Given the description of an element on the screen output the (x, y) to click on. 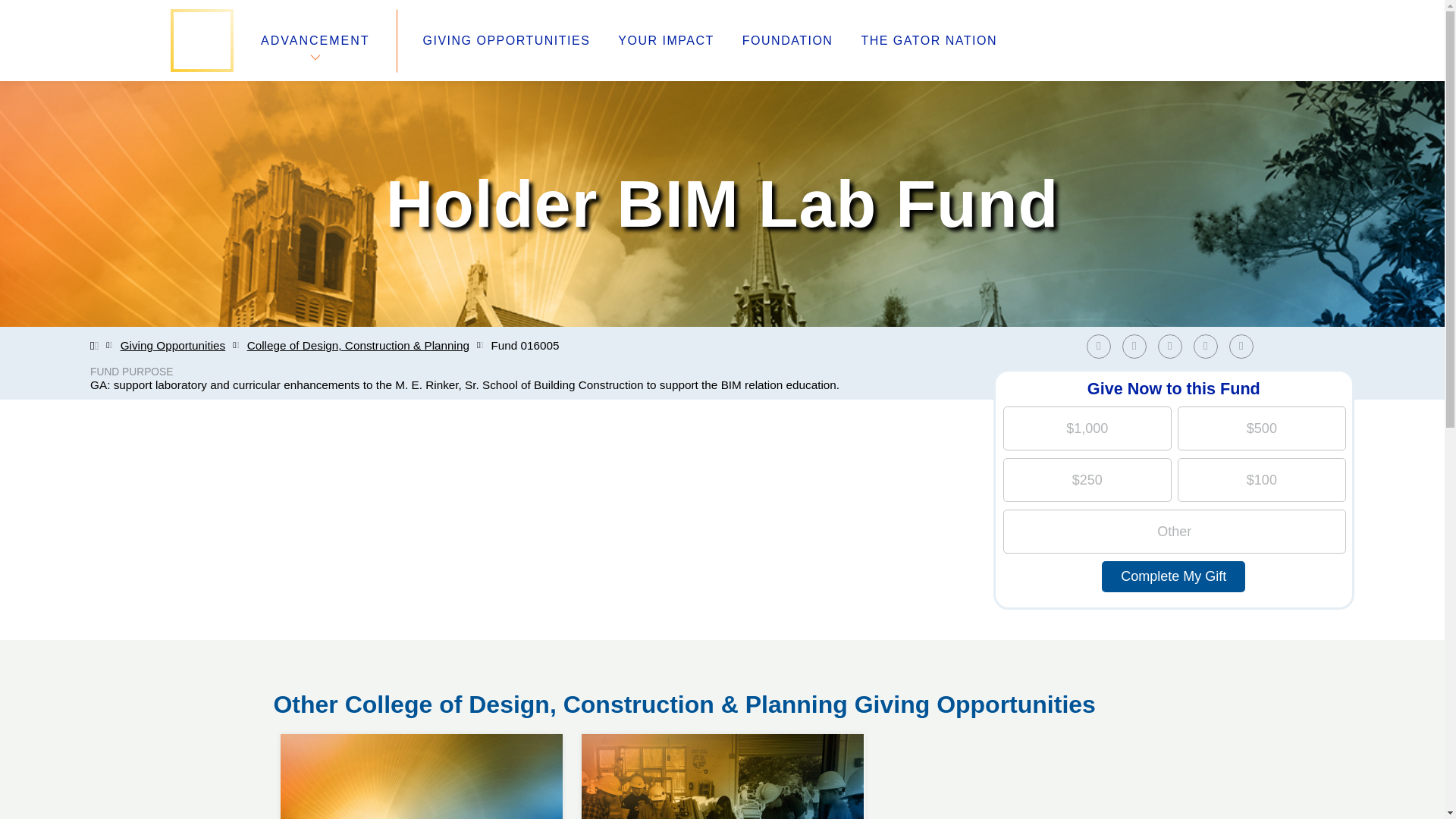
Disclosures (537, 723)
Share on LinkedIn (1169, 346)
University of Florida (721, 734)
Share on Reddit (840, 668)
Privacy Policy (1209, 345)
YOUR IMPACT (545, 704)
GIVING OPPORTUNITIES (665, 40)
Join Our Team (507, 40)
Advancement Toolkit (317, 668)
Contact Us (565, 686)
Share by Email (306, 723)
Share by Email (1240, 346)
Share on LinkedIn (1244, 345)
Share on Twitter (1173, 345)
